Given the description of an element on the screen output the (x, y) to click on. 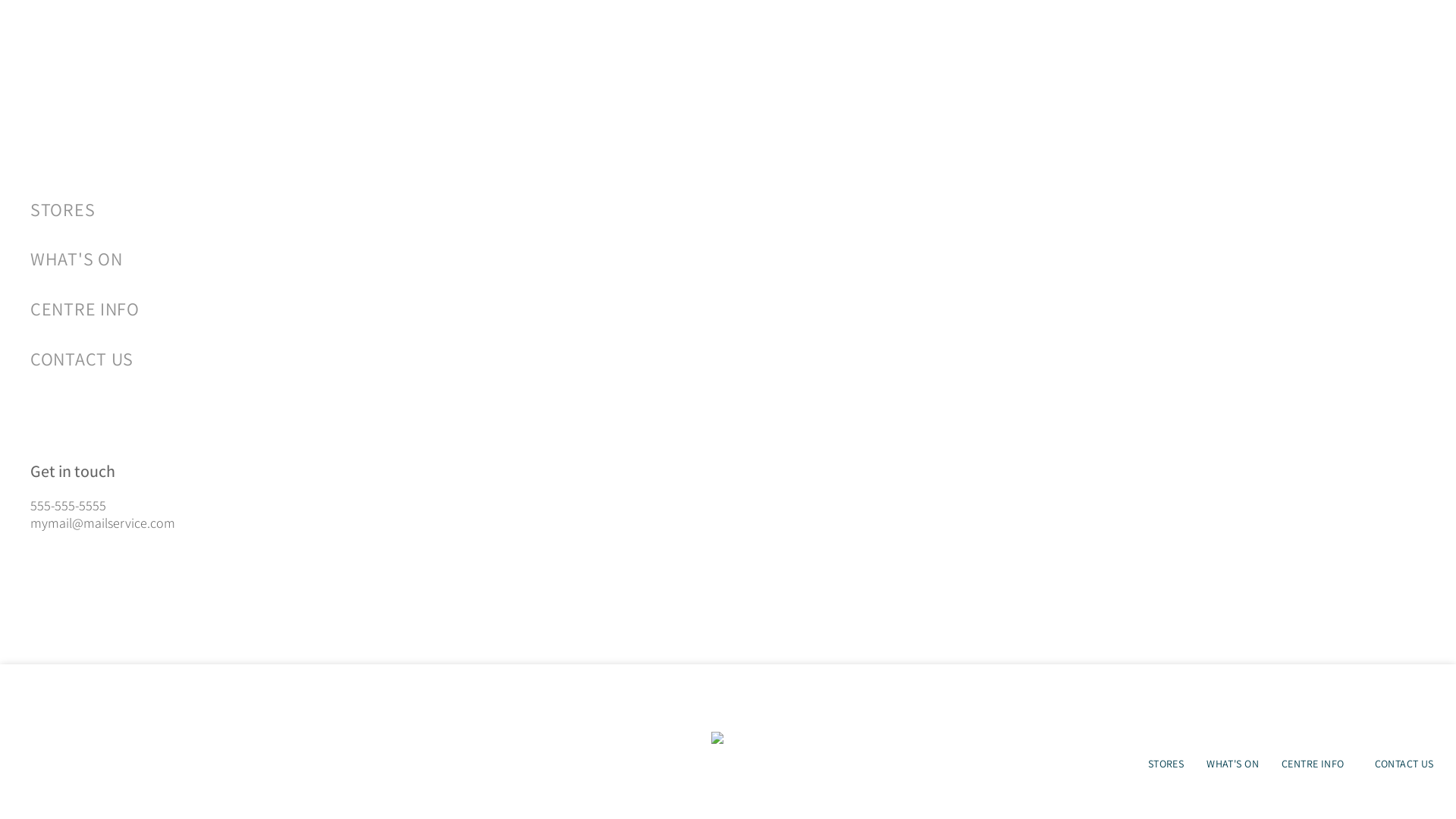
WHAT'S ON Element type: text (1232, 763)
CONTACT US Element type: text (1404, 763)
STORES Element type: text (386, 209)
CENTRE INFO Element type: text (386, 308)
STORES Element type: text (1165, 763)
CONTACT US Element type: text (386, 358)
CENTRE INFO Element type: text (1316, 763)
WHAT'S ON Element type: text (386, 259)
